Given the description of an element on the screen output the (x, y) to click on. 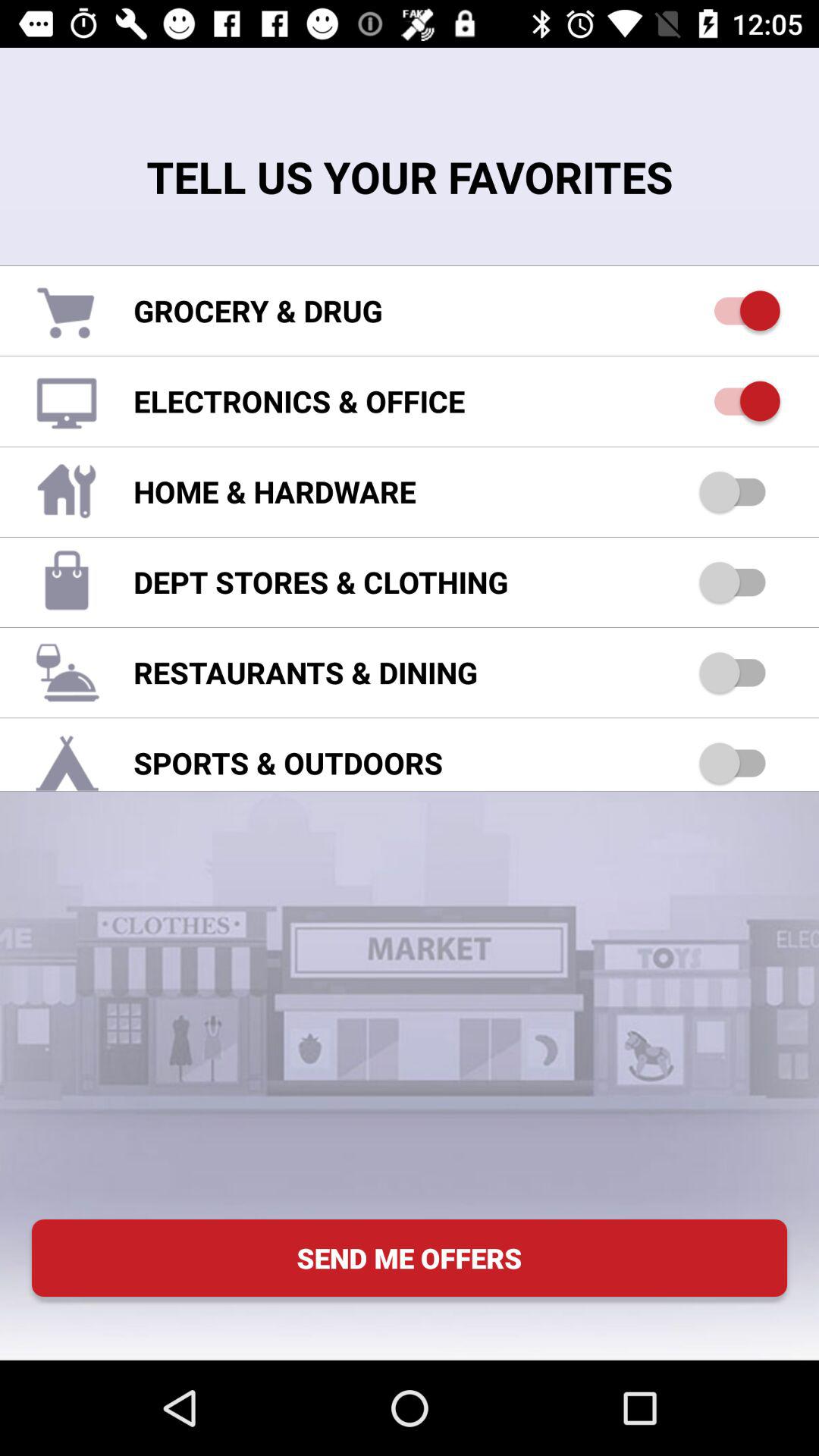
toggle grocery drug (739, 310)
